Given the description of an element on the screen output the (x, y) to click on. 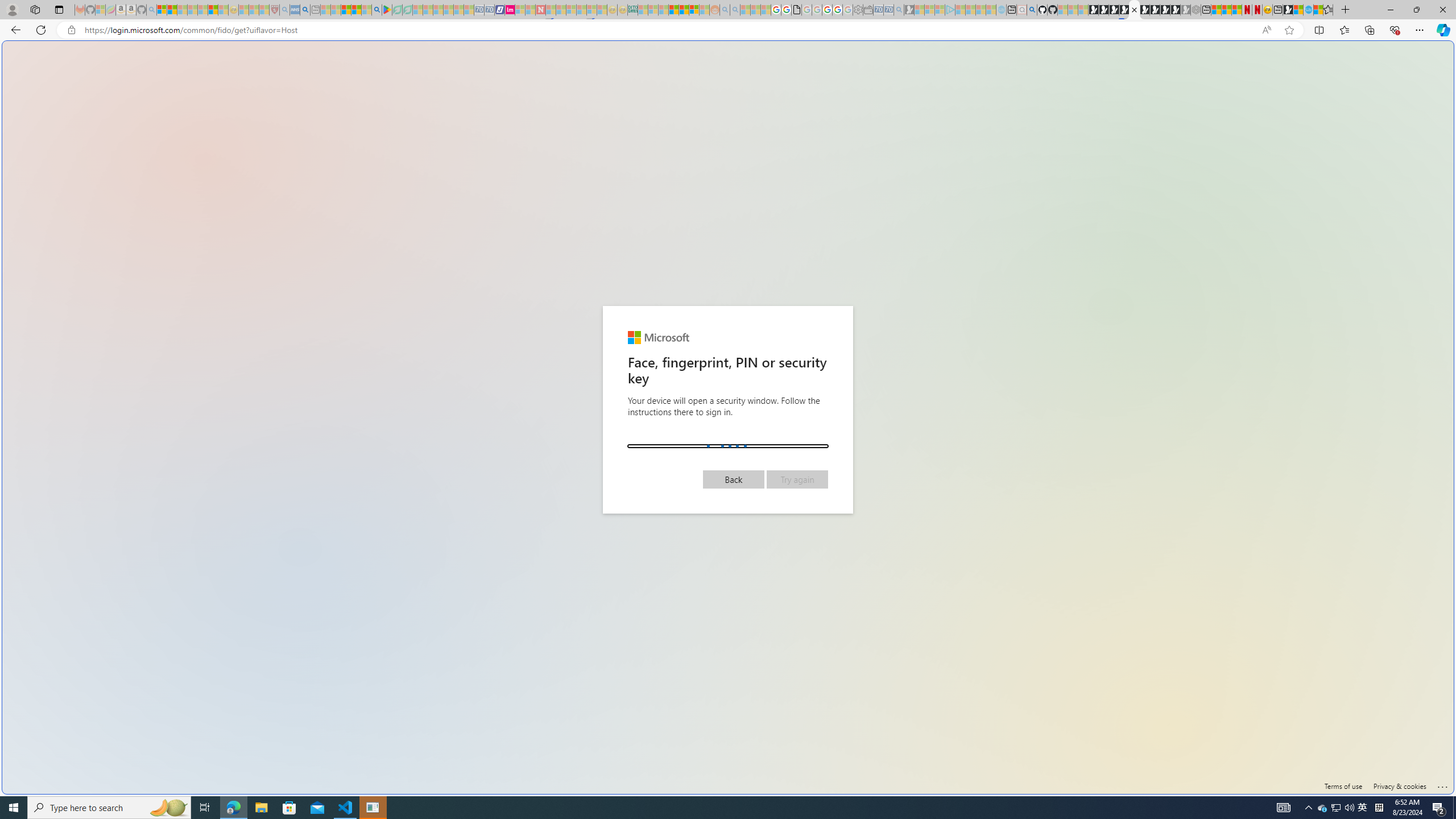
Home | Sky Blue Bikes - Sky Blue Bikes (1118, 242)
Pets - MSN (356, 9)
